Given the description of an element on the screen output the (x, y) to click on. 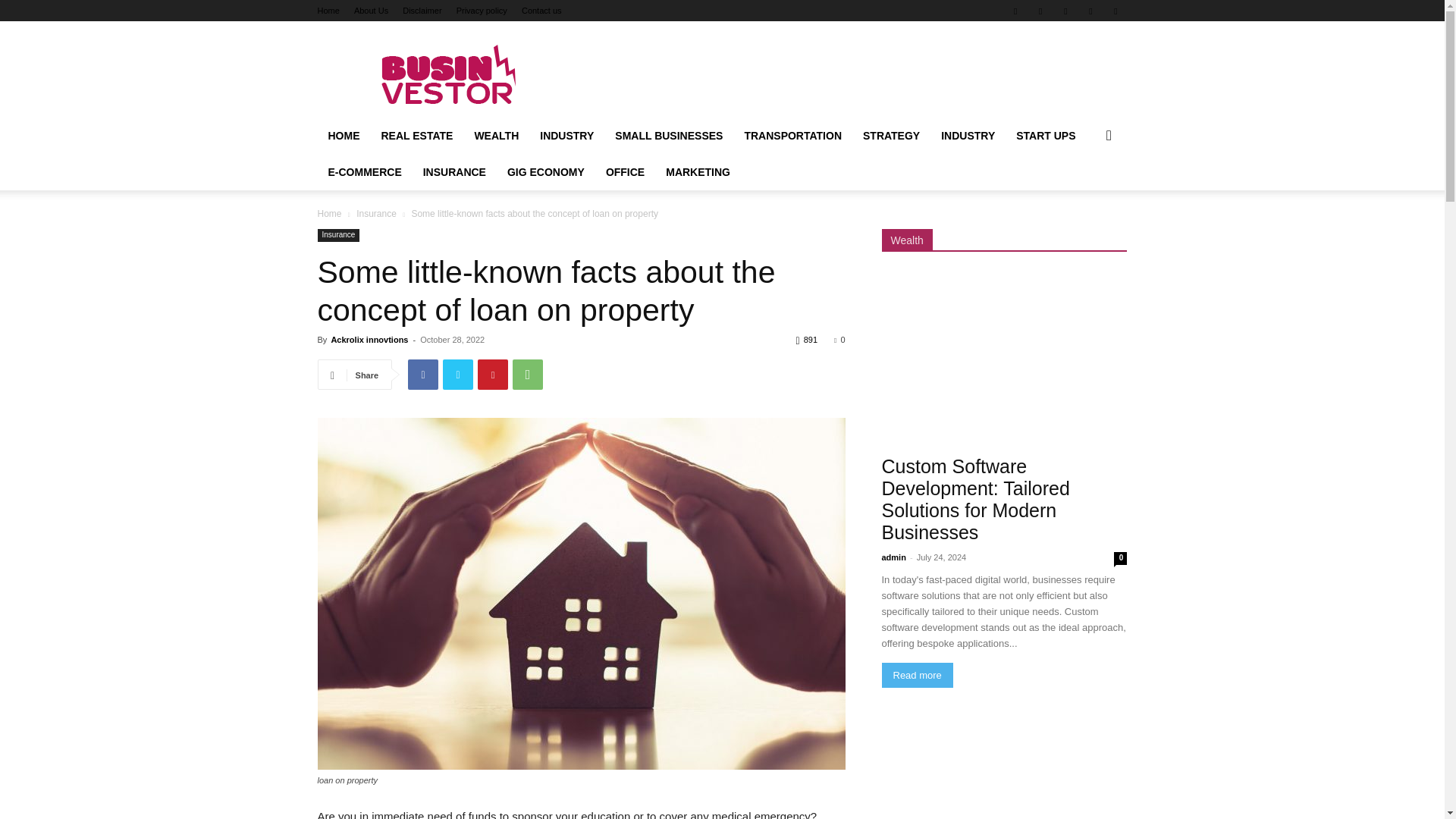
Disclaimer (422, 10)
Privacy policy (481, 10)
REAL ESTATE (416, 135)
About Us (370, 10)
WEALTH (496, 135)
Facebook (422, 374)
Home (328, 10)
Youtube (1114, 10)
Contact us (541, 10)
SMALL BUSINESSES (668, 135)
HOME (343, 135)
Pinterest (492, 374)
WhatsApp (527, 374)
VKontakte (1090, 10)
